Given the description of an element on the screen output the (x, y) to click on. 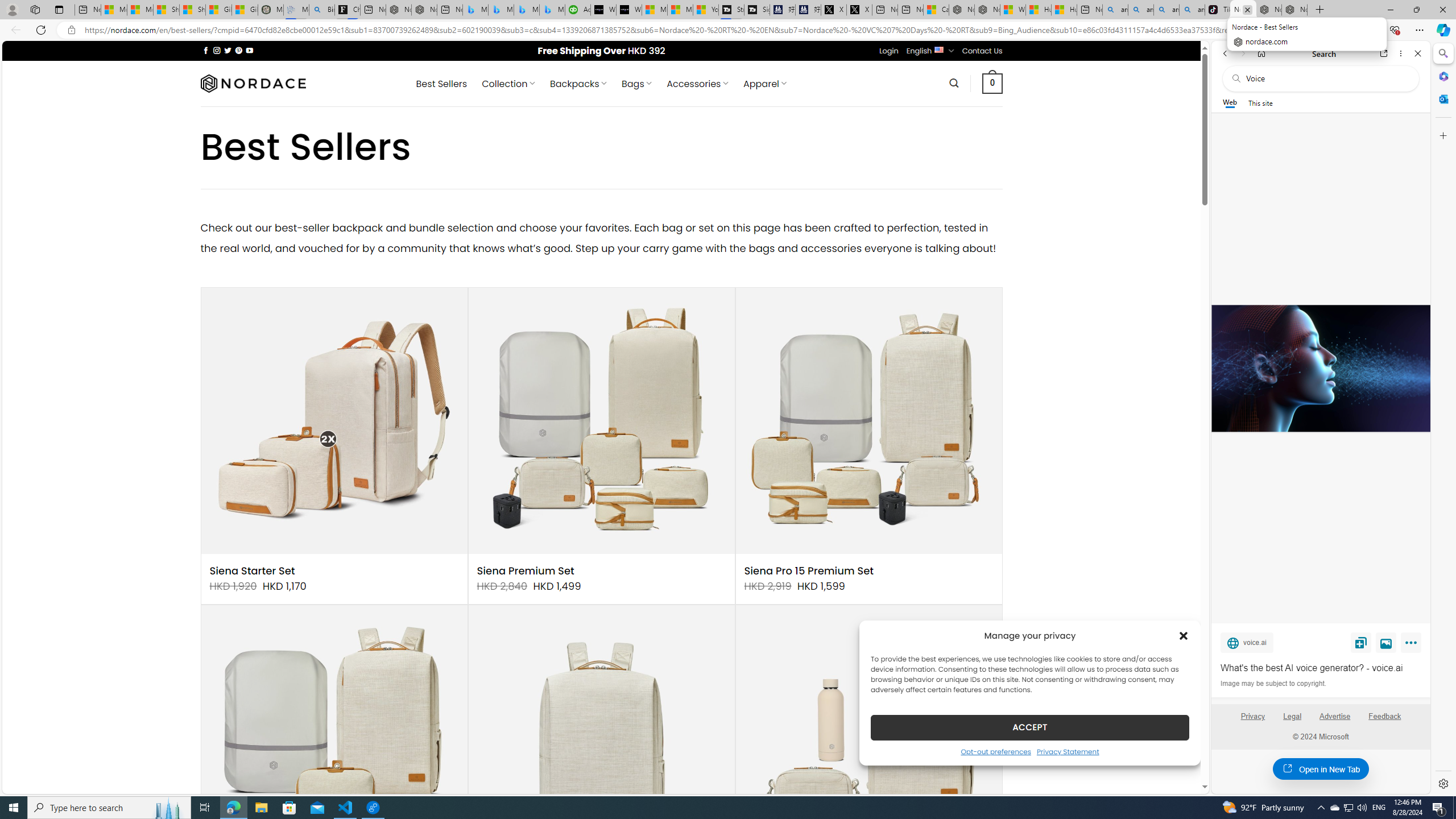
Search (1442, 53)
Login (888, 50)
Nordace - Summer Adventures 2024 (986, 9)
Microsoft Start Sports (654, 9)
Nordace - Best Sellers (1242, 9)
Advertise (1335, 715)
What's the best AI voice generator? - voice.ai (628, 9)
This site has coupons! Shopping in Microsoft Edge (1268, 29)
Login (888, 50)
Open in New Tab (1321, 768)
